Given the description of an element on the screen output the (x, y) to click on. 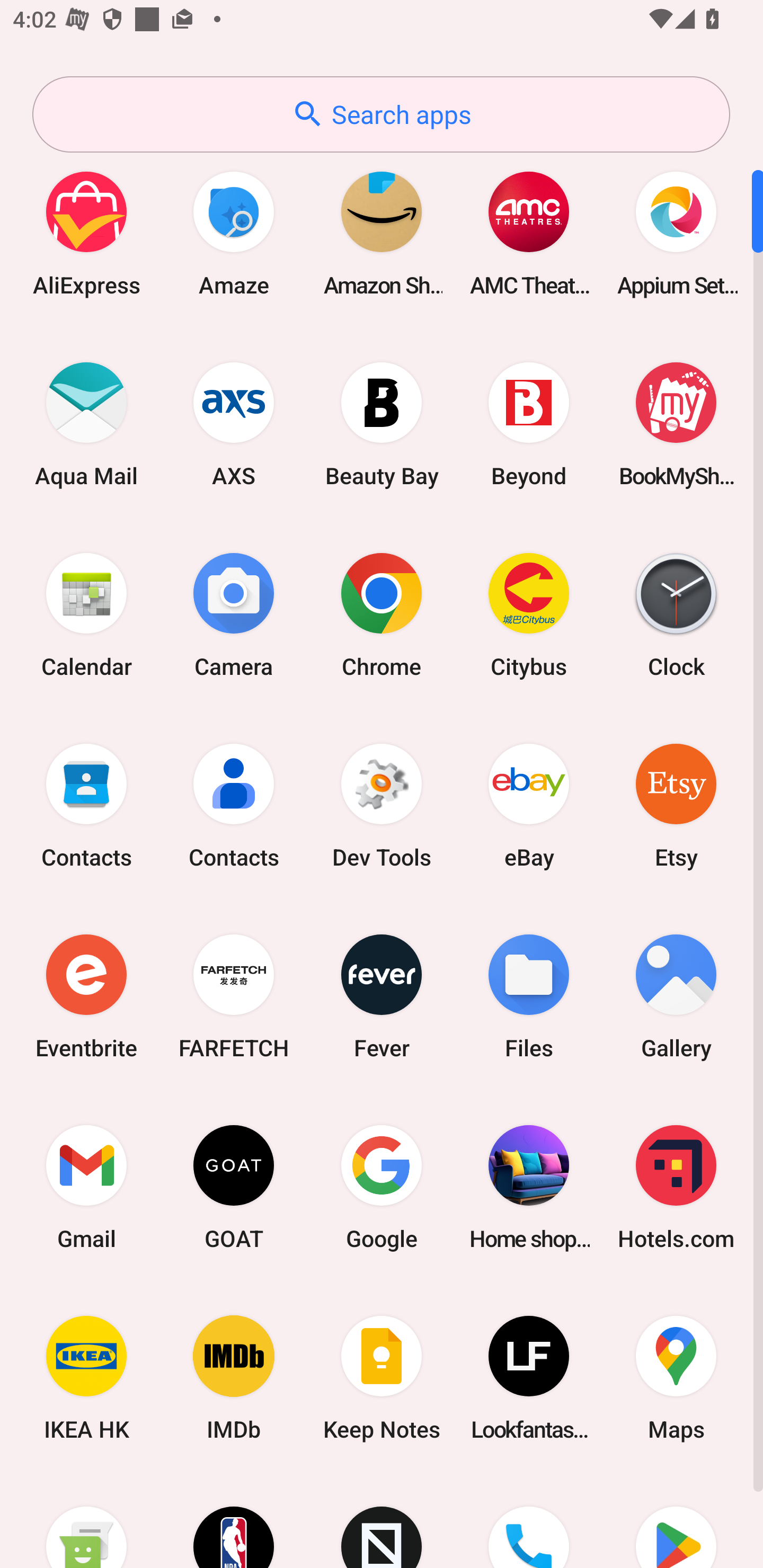
  Search apps (381, 114)
AliExpress (86, 233)
Amaze (233, 233)
Amazon Shopping (381, 233)
AMC Theatres (528, 233)
Appium Settings (676, 233)
Aqua Mail (86, 424)
AXS (233, 424)
Beauty Bay (381, 424)
Beyond (528, 424)
BookMyShow (676, 424)
Calendar (86, 614)
Camera (233, 614)
Chrome (381, 614)
Citybus (528, 614)
Clock (676, 614)
Contacts (86, 805)
Contacts (233, 805)
Dev Tools (381, 805)
eBay (528, 805)
Etsy (676, 805)
Eventbrite (86, 996)
FARFETCH (233, 996)
Fever (381, 996)
Files (528, 996)
Gallery (676, 996)
Gmail (86, 1186)
GOAT (233, 1186)
Google (381, 1186)
Home shopping (528, 1186)
Hotels.com (676, 1186)
IKEA HK (86, 1377)
IMDb (233, 1377)
Keep Notes (381, 1377)
Lookfantastic (528, 1377)
Maps (676, 1377)
